Given the description of an element on the screen output the (x, y) to click on. 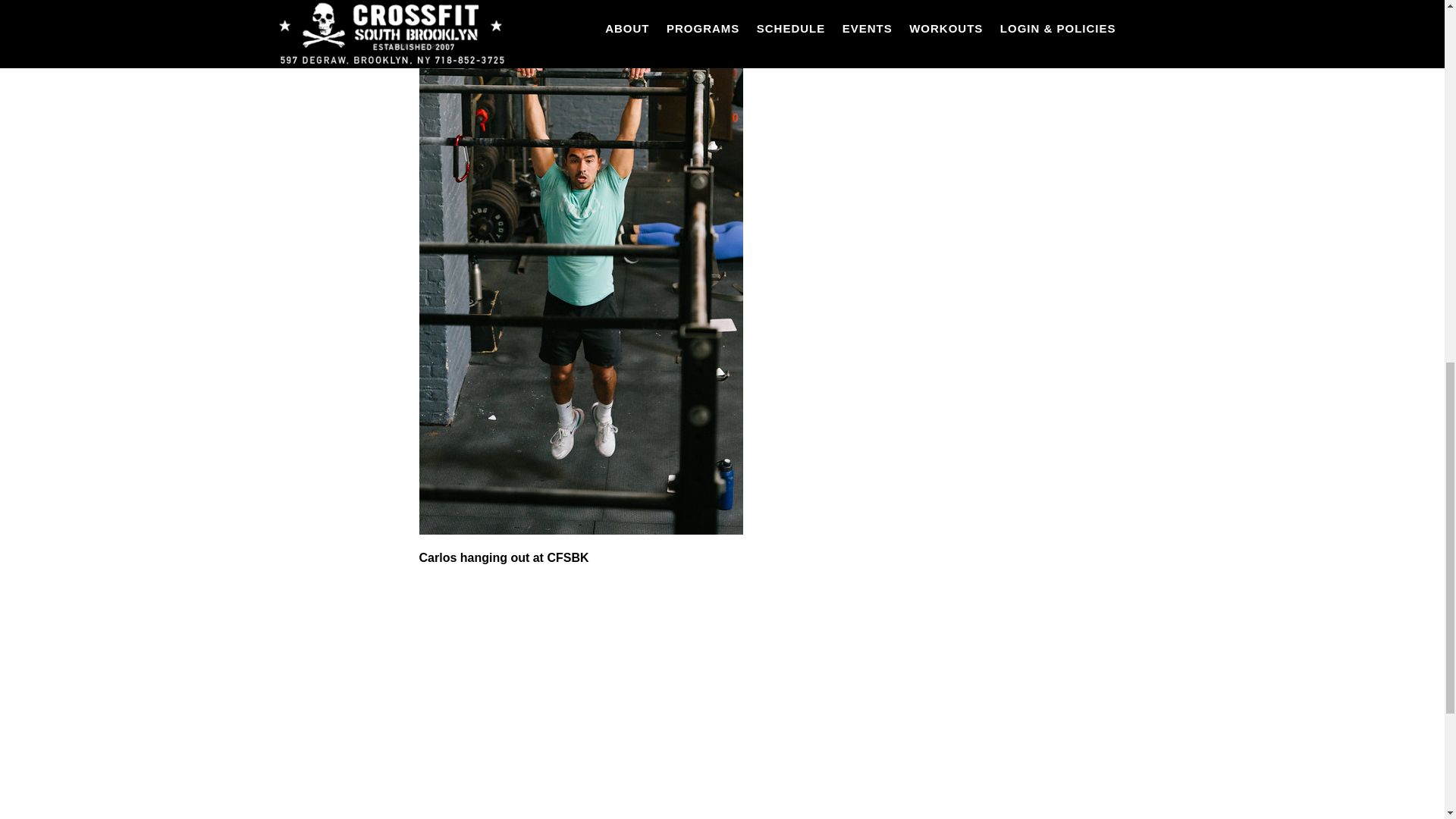
YouTube video player (631, 700)
CrossFit Group Class Programming Template (550, 24)
